Given the description of an element on the screen output the (x, y) to click on. 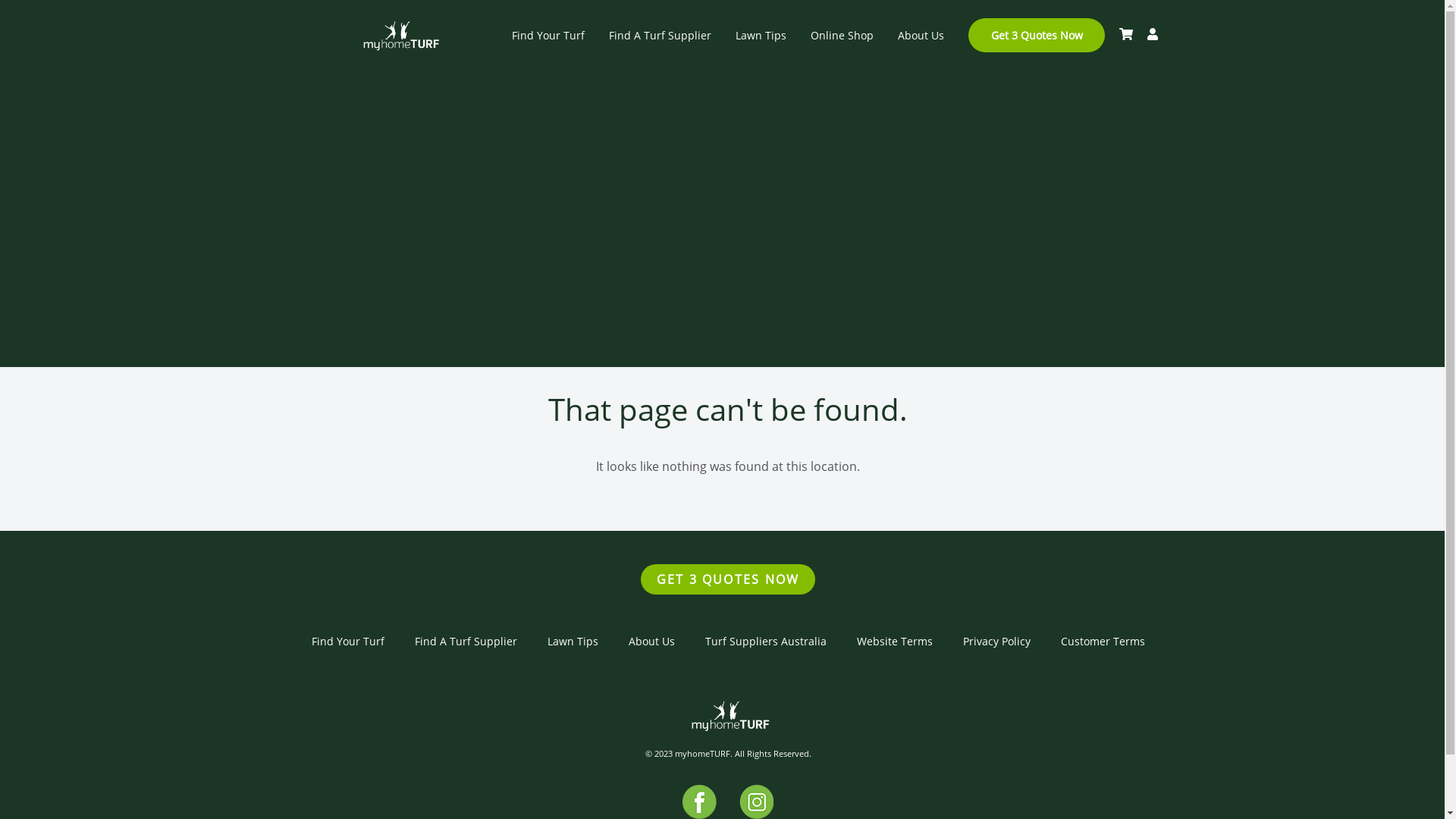
Find A Turf Supplier Element type: text (465, 640)
About Us Element type: text (920, 35)
Lawn Tips Element type: text (572, 640)
Find Your Turf Element type: text (547, 35)
Privacy Policy Element type: text (996, 640)
Get 3 Quotes Now Element type: text (1036, 35)
GET 3 QUOTES NOW Element type: text (727, 579)
Find A Turf Supplier Element type: text (659, 35)
Turf Suppliers Australia Element type: text (765, 640)
Lawn Tips Element type: text (760, 35)
Customer Terms Element type: text (1102, 640)
Online Shop Element type: text (841, 35)
About Us Element type: text (650, 640)
Find Your Turf Element type: text (346, 640)
Website Terms Element type: text (894, 640)
